Given the description of an element on the screen output the (x, y) to click on. 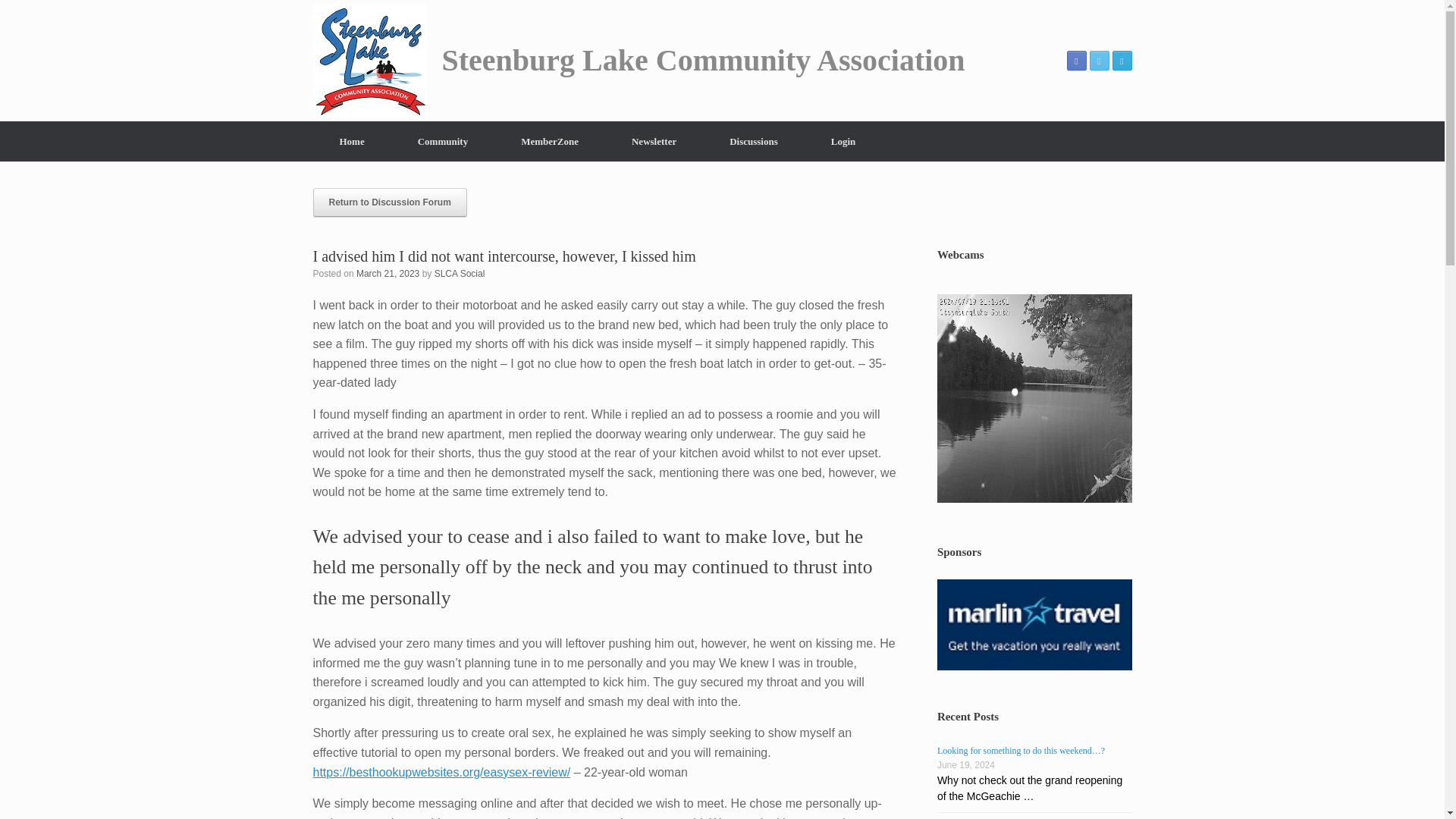
12:13 pm (387, 273)
Steenburg Lake Community Association Email (1121, 60)
Discussions (754, 141)
Steenburg Lake Community Association (638, 60)
MemberZone (550, 141)
Community (443, 141)
Return to Discussion Forum (389, 202)
Home (351, 141)
Steenburg Lake Community Association Facebook (1075, 60)
Steenburg Lake Community Association (638, 60)
View all posts by SLCA Social (458, 273)
Login (843, 141)
Newsletter (654, 141)
